Given the description of an element on the screen output the (x, y) to click on. 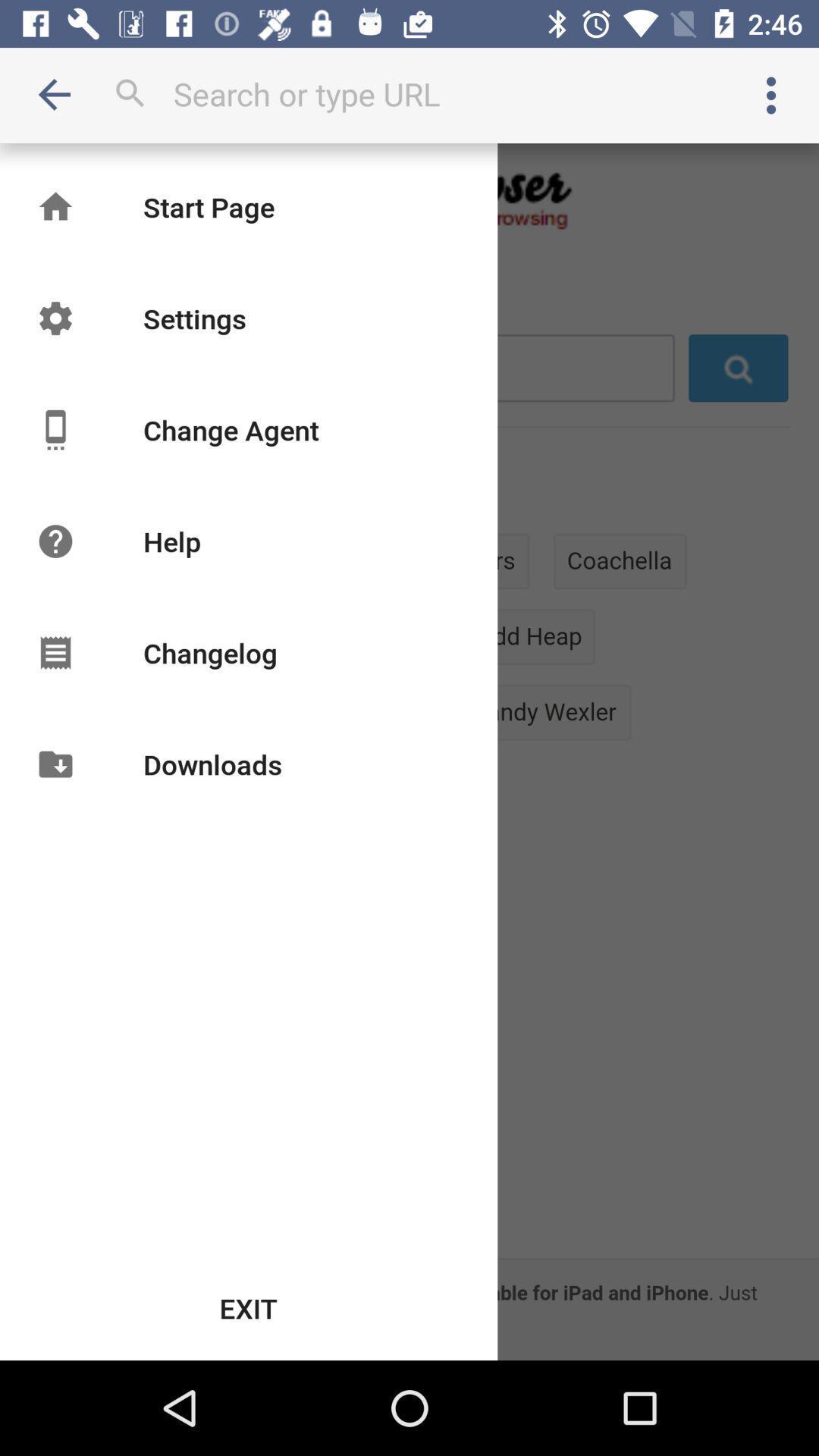
click the icon below the start page icon (194, 318)
